Given the description of an element on the screen output the (x, y) to click on. 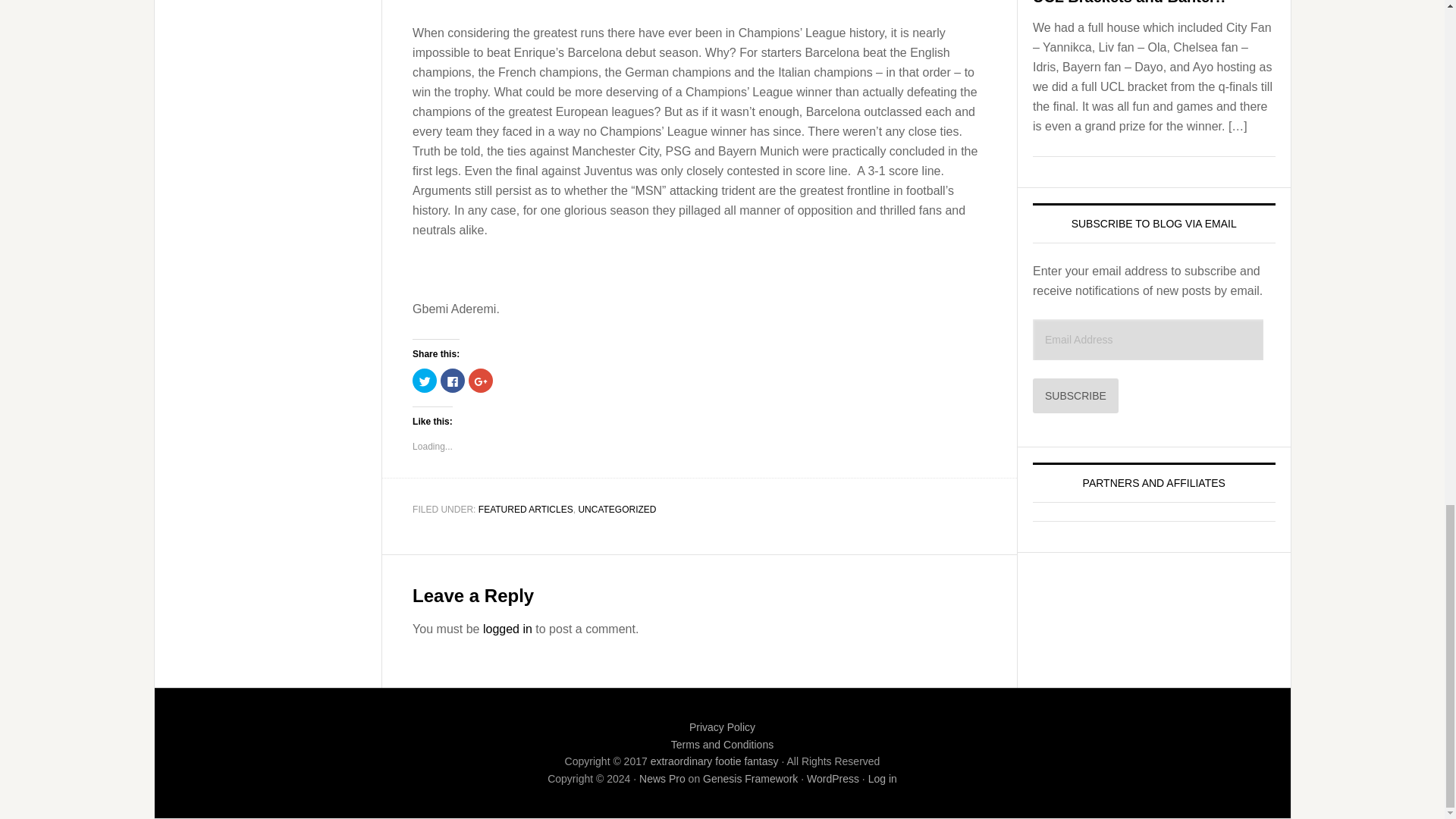
UCL Brackets and Banter!! (1128, 2)
logged in (507, 628)
Click to share on Facebook (452, 380)
Subscribe (1075, 395)
Click to share on Twitter (424, 380)
Subscribe (1075, 395)
FEATURED ARTICLES (526, 509)
UNCATEGORIZED (617, 509)
